Given the description of an element on the screen output the (x, y) to click on. 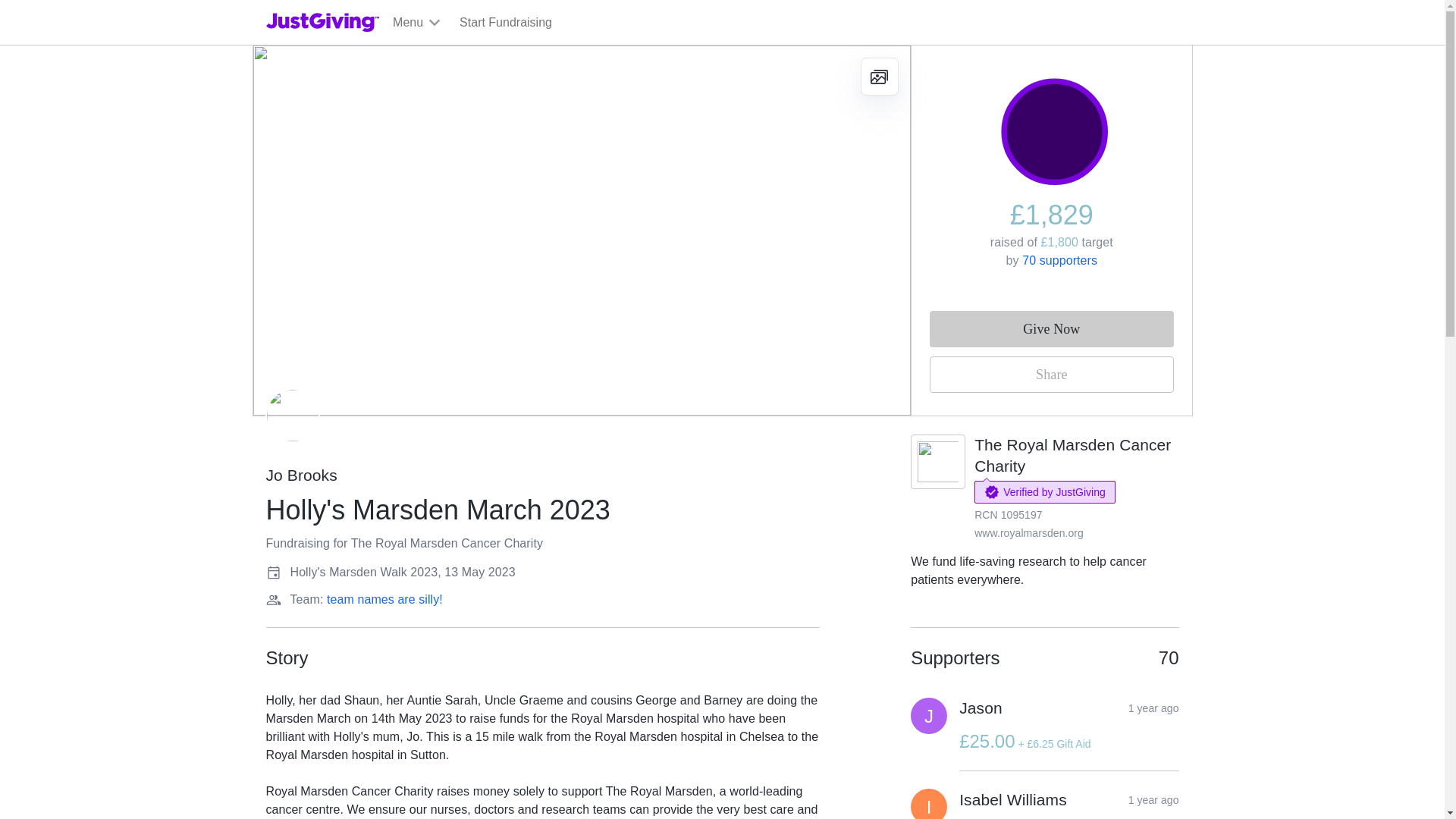
J (929, 715)
Search (919, 57)
I (929, 803)
Share (1051, 374)
www.royalmarsden.org (1028, 532)
The Royal Marsden Cancer Charity (1072, 455)
Menu (416, 22)
team names are silly! (384, 599)
70 supporters (1059, 259)
Start Fundraising (505, 22)
